Given the description of an element on the screen output the (x, y) to click on. 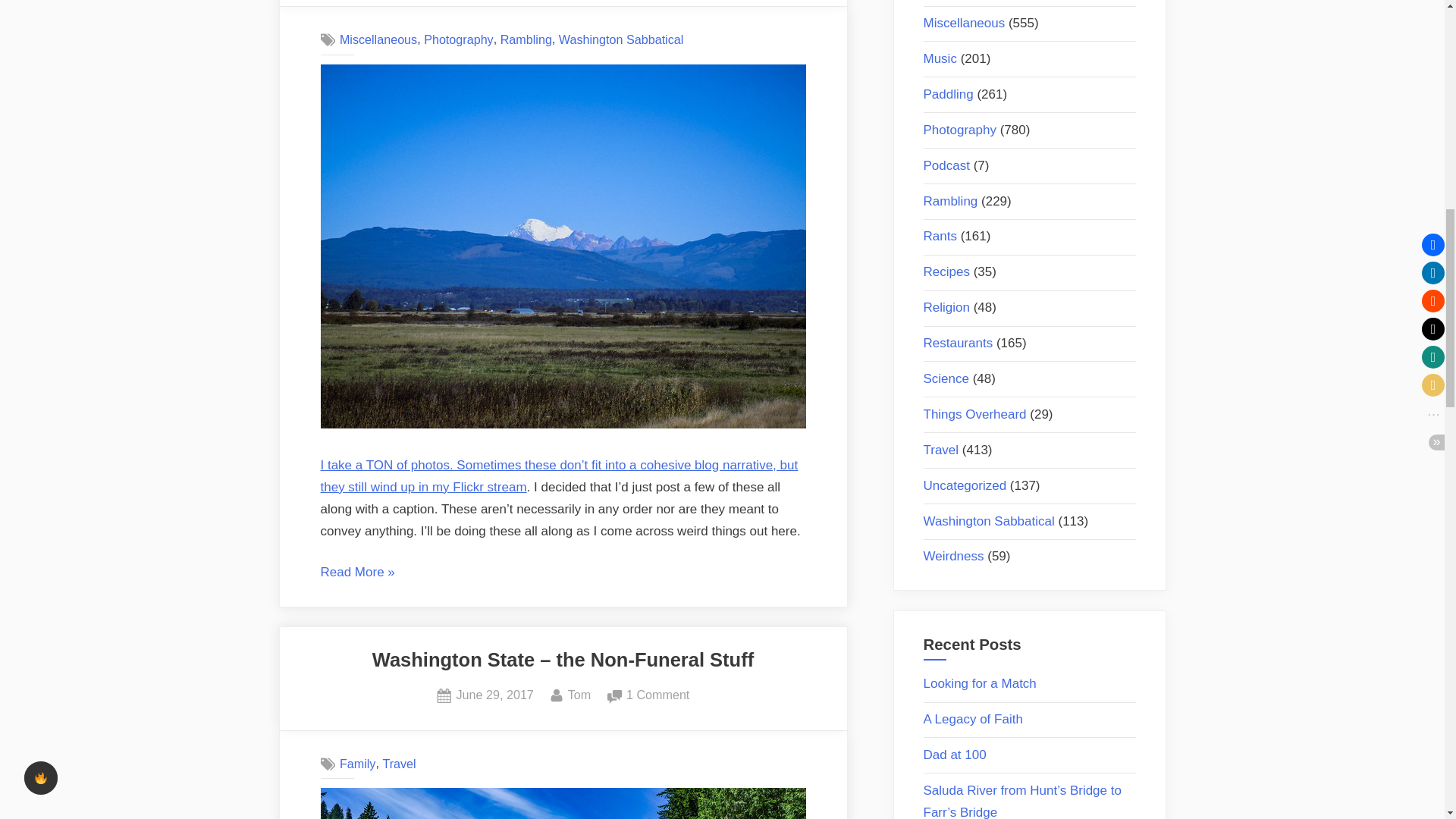
Family (579, 694)
Skagit Flats-002 (357, 763)
my Flickr stream (562, 423)
Miscellaneous (479, 486)
Travel (495, 694)
Washington Sabbatical (377, 38)
Skagit Flats-002 (397, 763)
Rambling (621, 38)
Photography (558, 475)
